Given the description of an element on the screen output the (x, y) to click on. 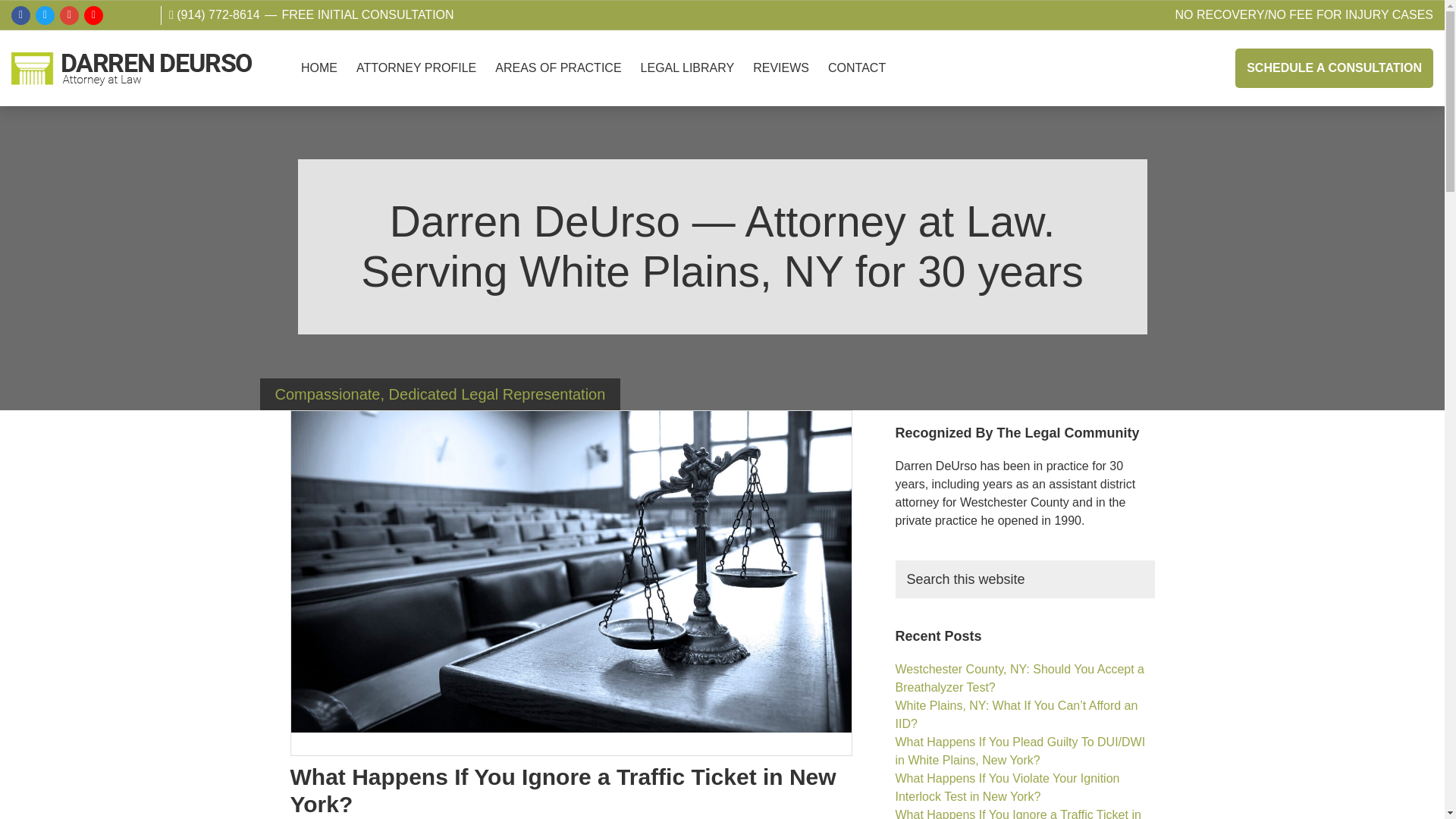
Darren DeUrso (38, 101)
MARTINDALE (116, 14)
ATTORNEY PROFILE (416, 67)
LEGAL LIBRARY (687, 67)
LAWYERS.COM (141, 14)
HOME (319, 67)
AREAS OF PRACTICE (557, 67)
